Given the description of an element on the screen output the (x, y) to click on. 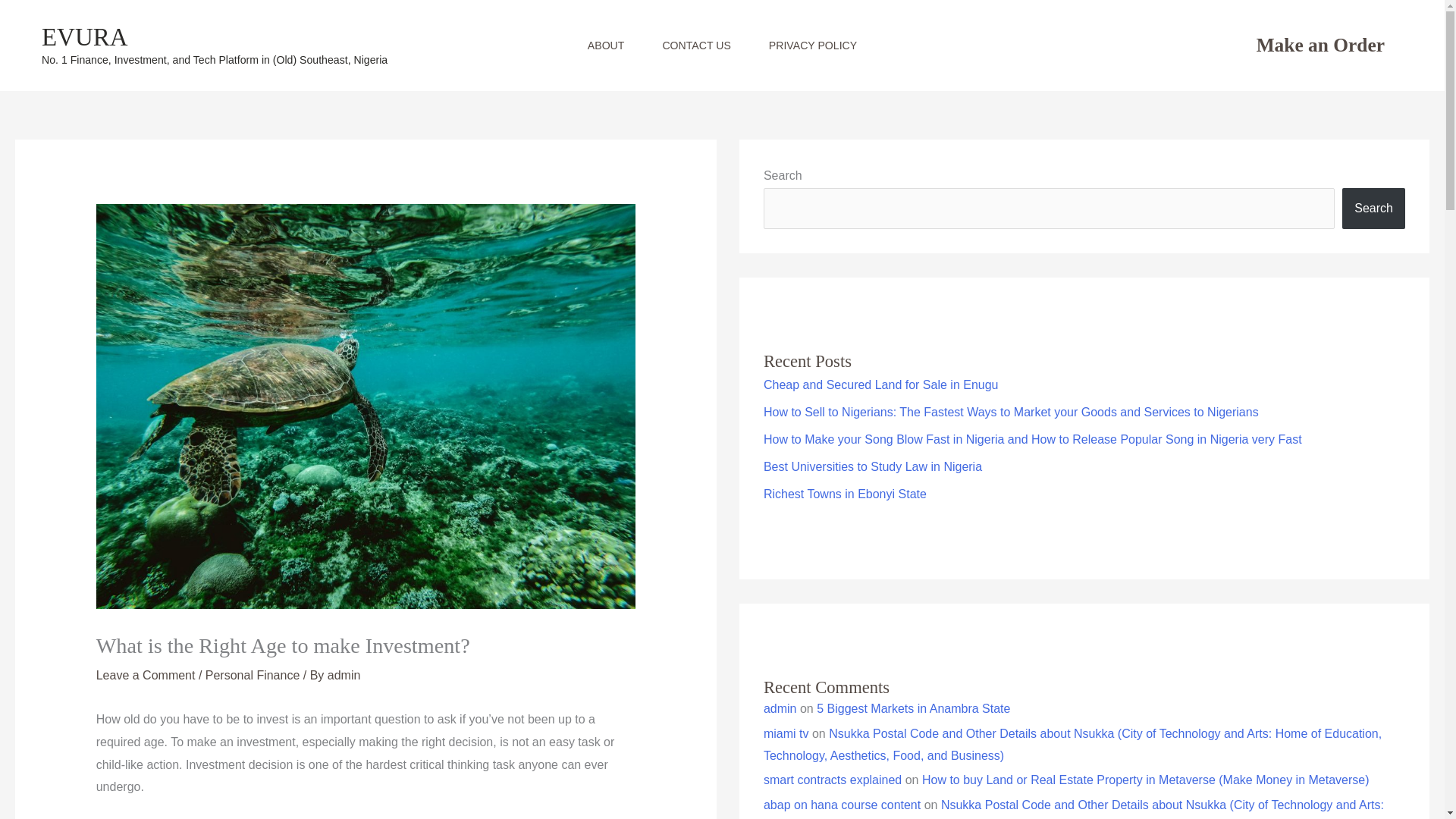
miami tv (785, 733)
View all posts by admin (344, 675)
Best Universities to Study Law in Nigeria (871, 466)
5 Biggest Markets in Anambra State (913, 707)
Search (1373, 208)
Personal Finance (252, 675)
smart contracts explained (831, 779)
abap on hana course content (841, 804)
admin (344, 675)
admin (779, 707)
Leave a Comment (145, 675)
Make an Order (1321, 44)
Richest Towns in Ebonyi State (844, 493)
EVURA (85, 36)
